Given the description of an element on the screen output the (x, y) to click on. 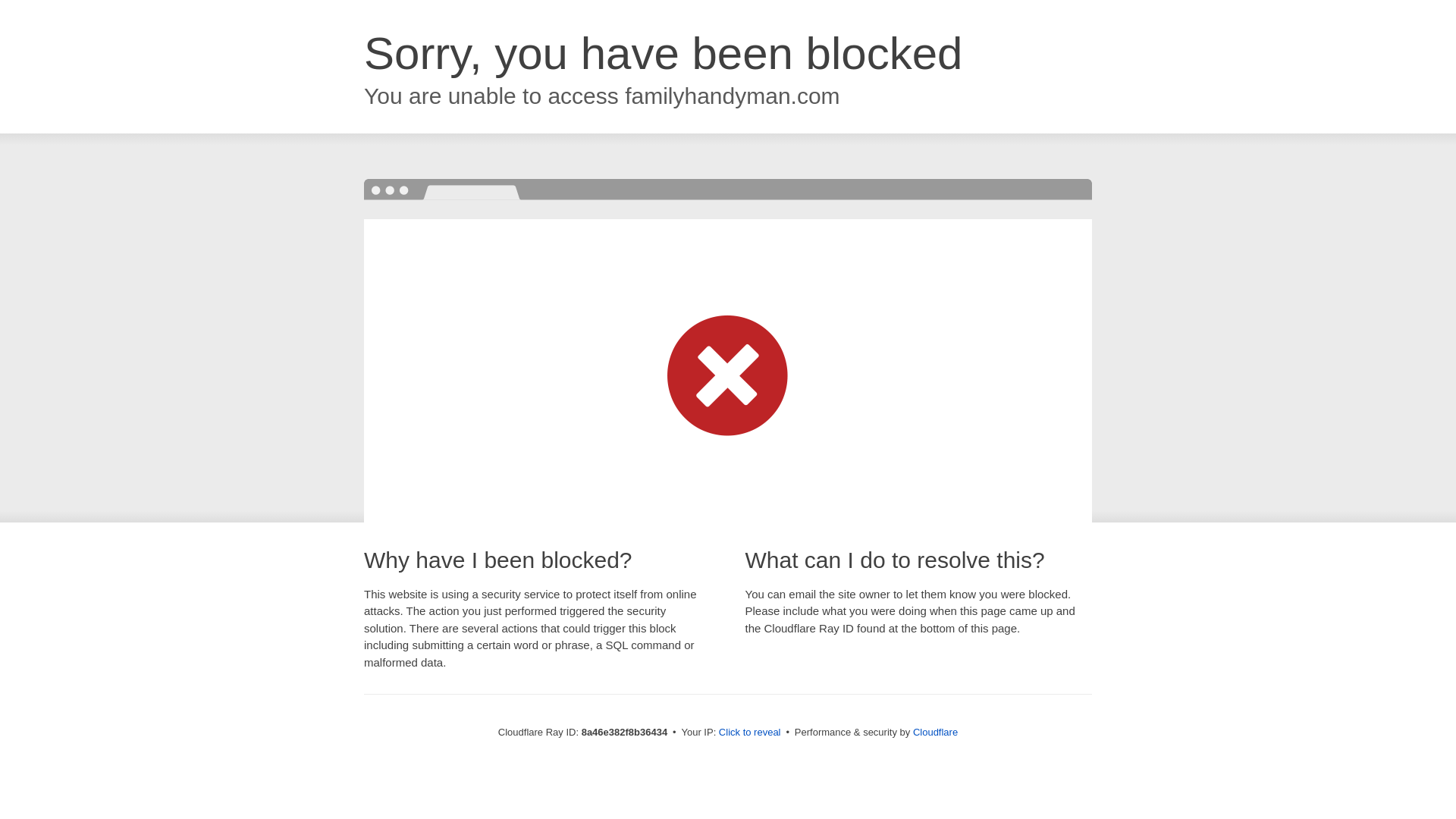
Click to reveal (749, 732)
Cloudflare (935, 731)
